Given the description of an element on the screen output the (x, y) to click on. 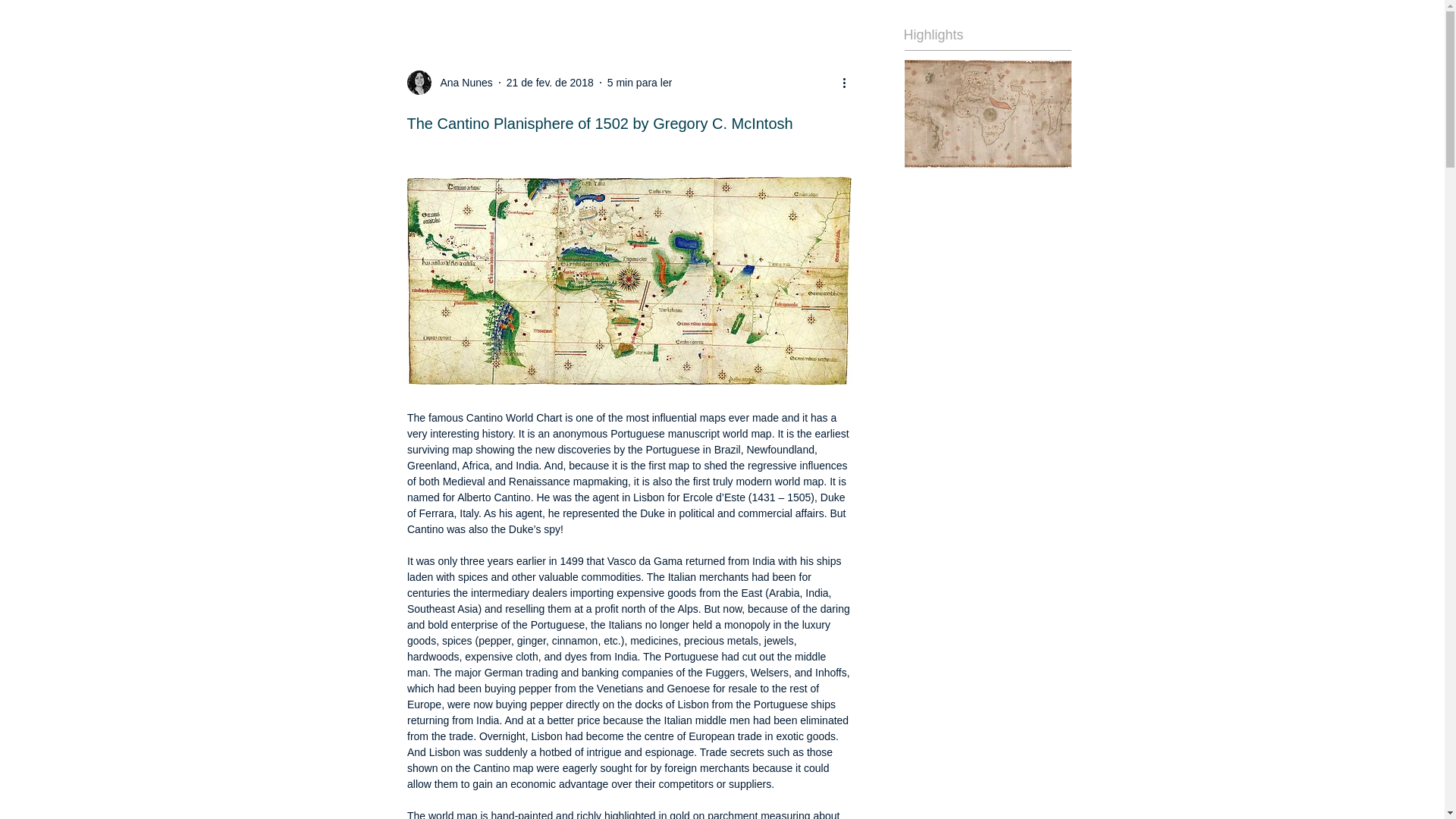
Ana Nunes (461, 82)
21 de fev. de 2018 (550, 81)
5 min para ler (639, 81)
